Given the description of an element on the screen output the (x, y) to click on. 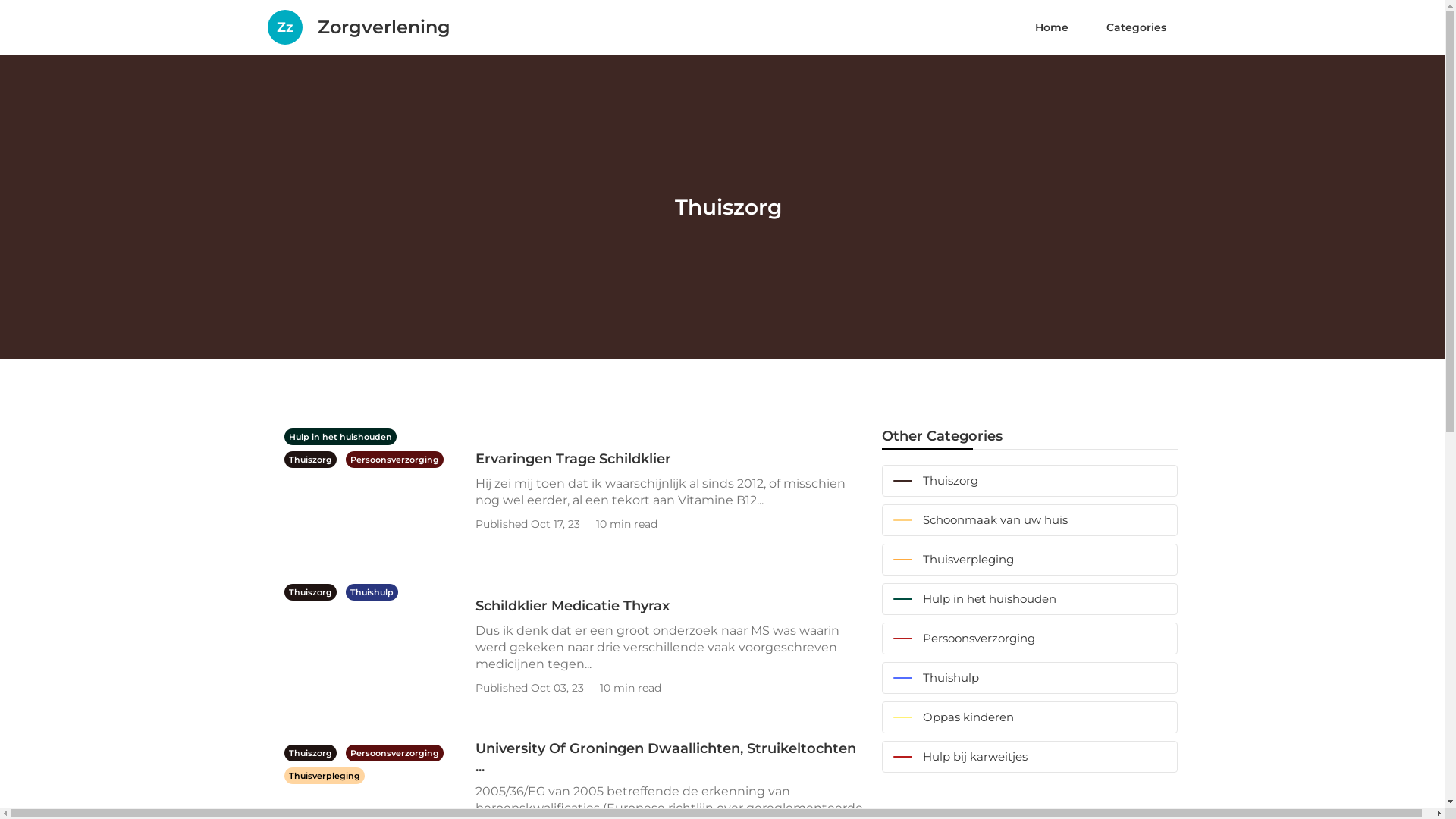
Schoonmaak van uw huis Element type: text (1028, 520)
Hulp in het huishouden Element type: text (1028, 599)
Schildklier Medicatie Thyrax Element type: text (670, 605)
Ervaringen Trage Schildklier Element type: text (670, 457)
Thuiszorg Element type: text (310, 458)
University Of Groningen Dwaallichten, Struikeltochten ... Element type: text (670, 757)
Thuiszorg Element type: text (1028, 480)
Thuishulp Element type: text (371, 591)
Home Element type: text (1051, 26)
Thuisverpleging Element type: text (1028, 559)
Oppas kinderen Element type: text (1028, 717)
Thuisverpleging Element type: text (323, 774)
Hulp in het huishouden Element type: text (339, 435)
Hulp bij karweitjes Element type: text (1028, 756)
Categories Element type: text (1136, 26)
Thuiszorg Element type: text (310, 751)
Persoonsverzorging Element type: text (1028, 638)
Persoonsverzorging Element type: text (394, 458)
Thuishulp Element type: text (1028, 677)
Thuiszorg Element type: text (310, 591)
Persoonsverzorging Element type: text (394, 751)
